Given the description of an element on the screen output the (x, y) to click on. 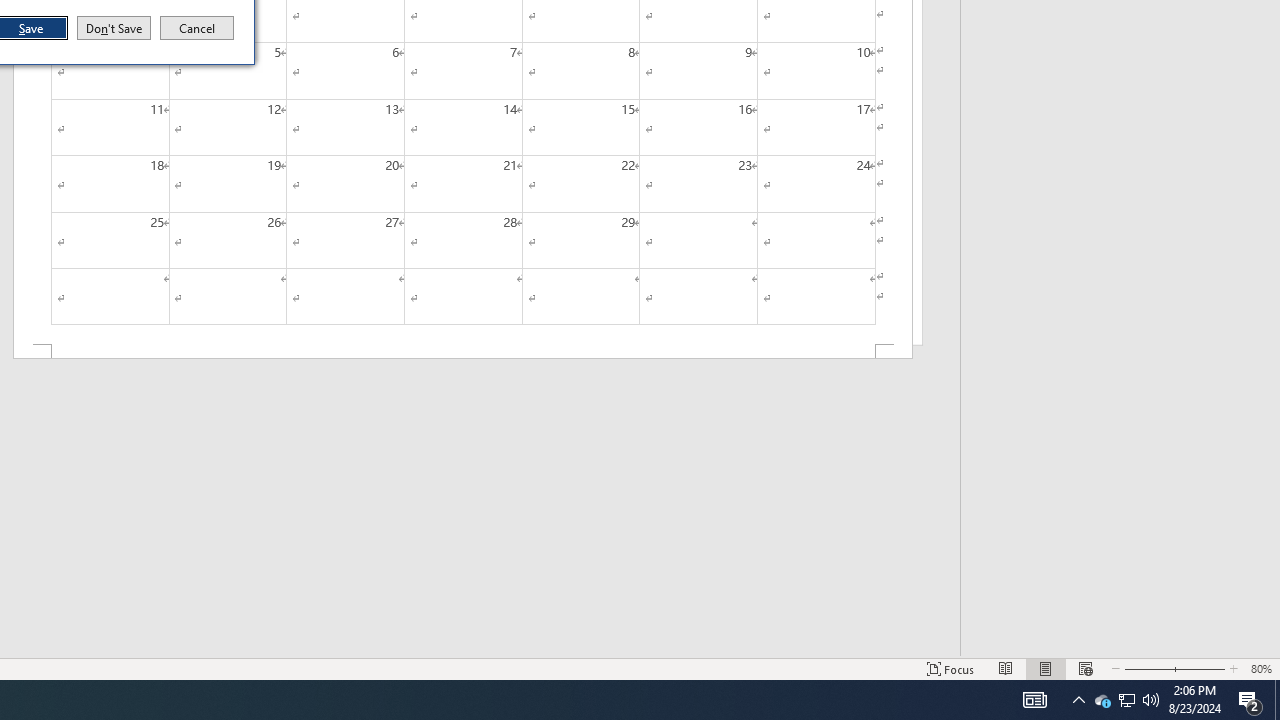
Don't Save (113, 27)
Cancel (197, 27)
